Given the description of an element on the screen output the (x, y) to click on. 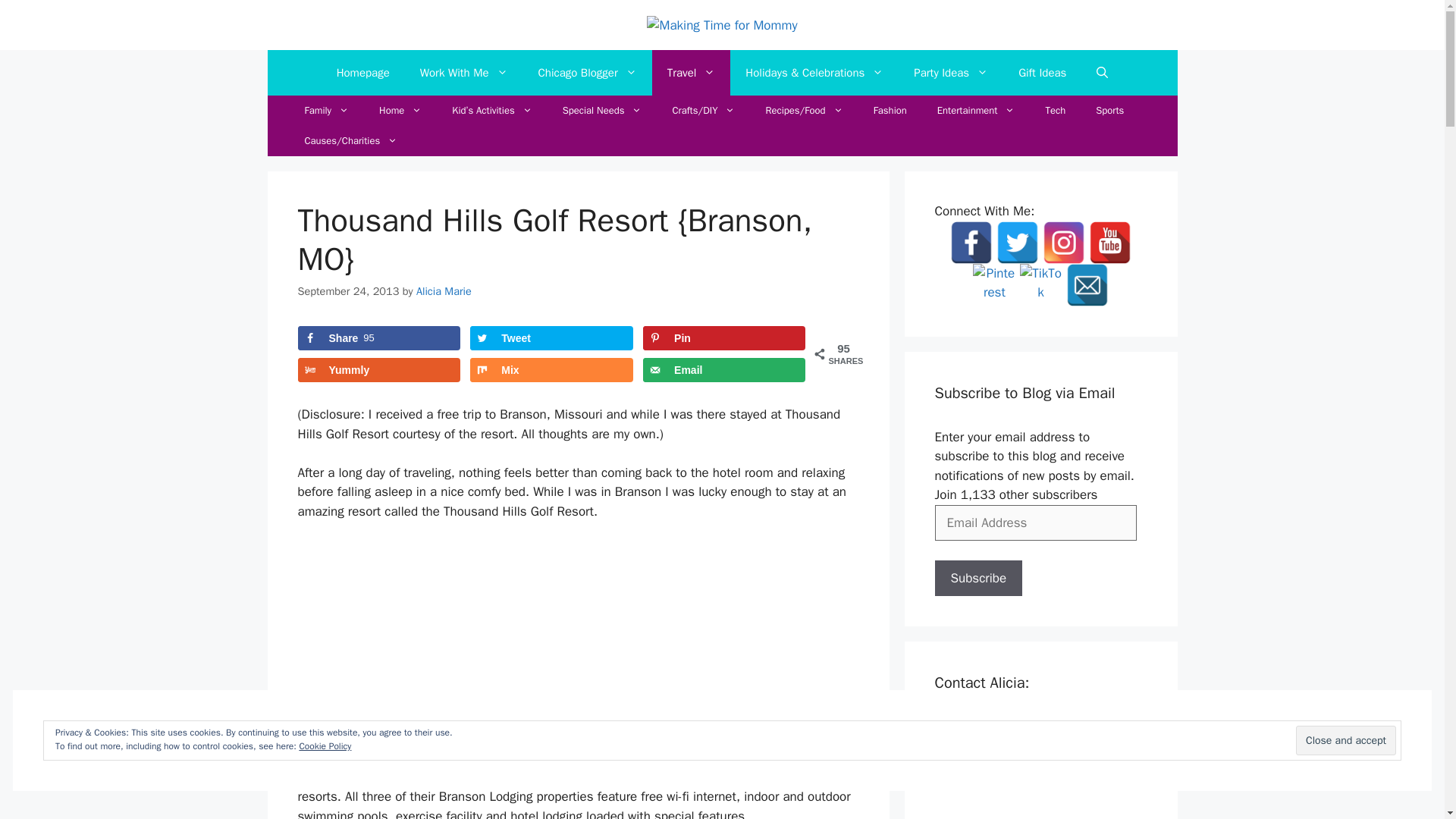
Chicago Blogger (587, 72)
Table Rock Lake (575, 767)
golf course (683, 757)
condos (480, 757)
Making Time for Mommy (721, 25)
Share on Twitter (550, 337)
Save to Pinterest (724, 337)
Branson Cabins (559, 748)
Share on Mix (550, 369)
thousand hills logo (578, 615)
